Given the description of an element on the screen output the (x, y) to click on. 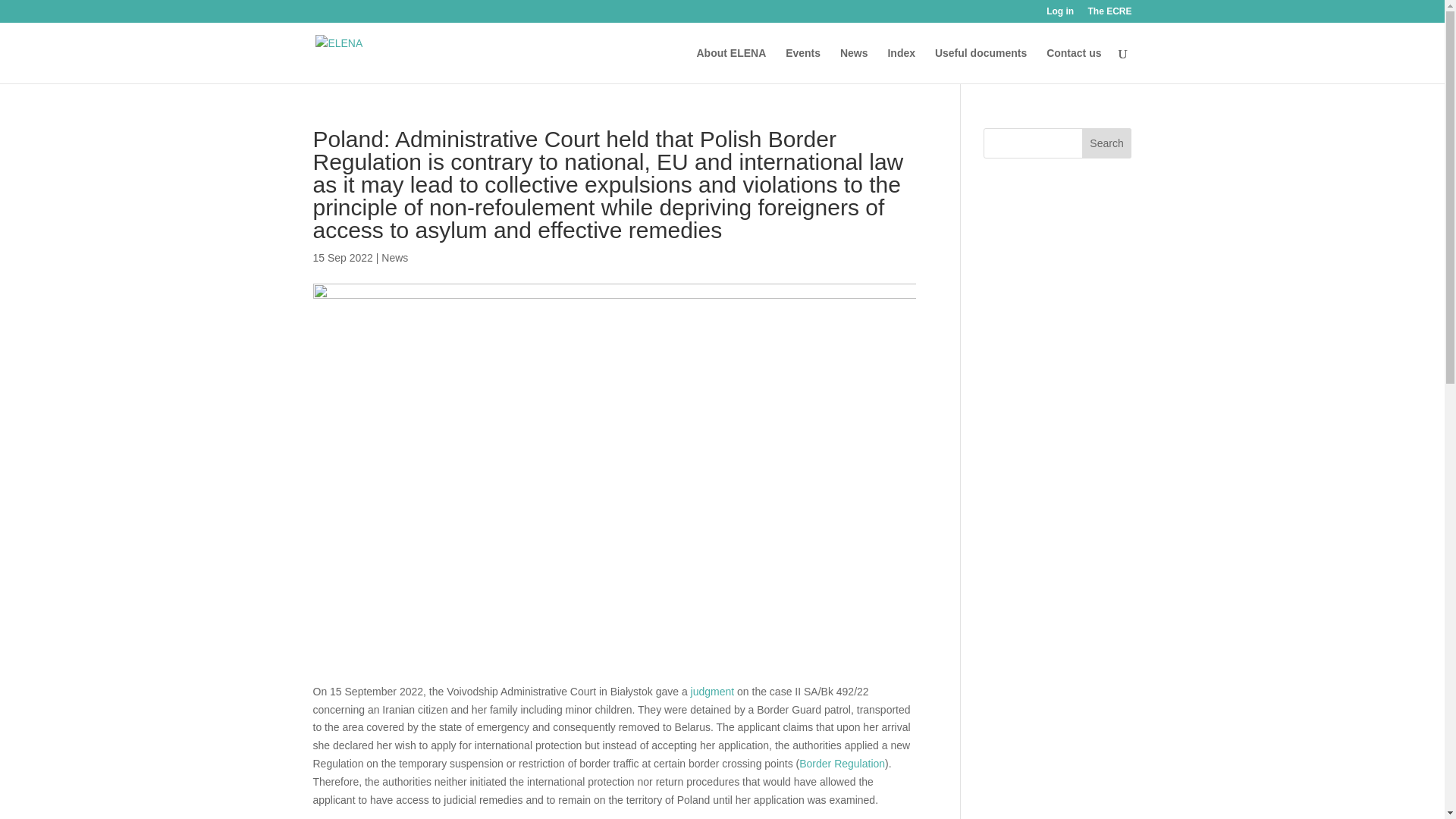
The ECRE (1109, 14)
Contact us (1073, 65)
Search (1106, 142)
Useful documents (980, 65)
News (394, 257)
Events (803, 65)
About ELENA (730, 65)
Border Regulation (842, 763)
Search (1106, 142)
Log in (1060, 14)
